Given the description of an element on the screen output the (x, y) to click on. 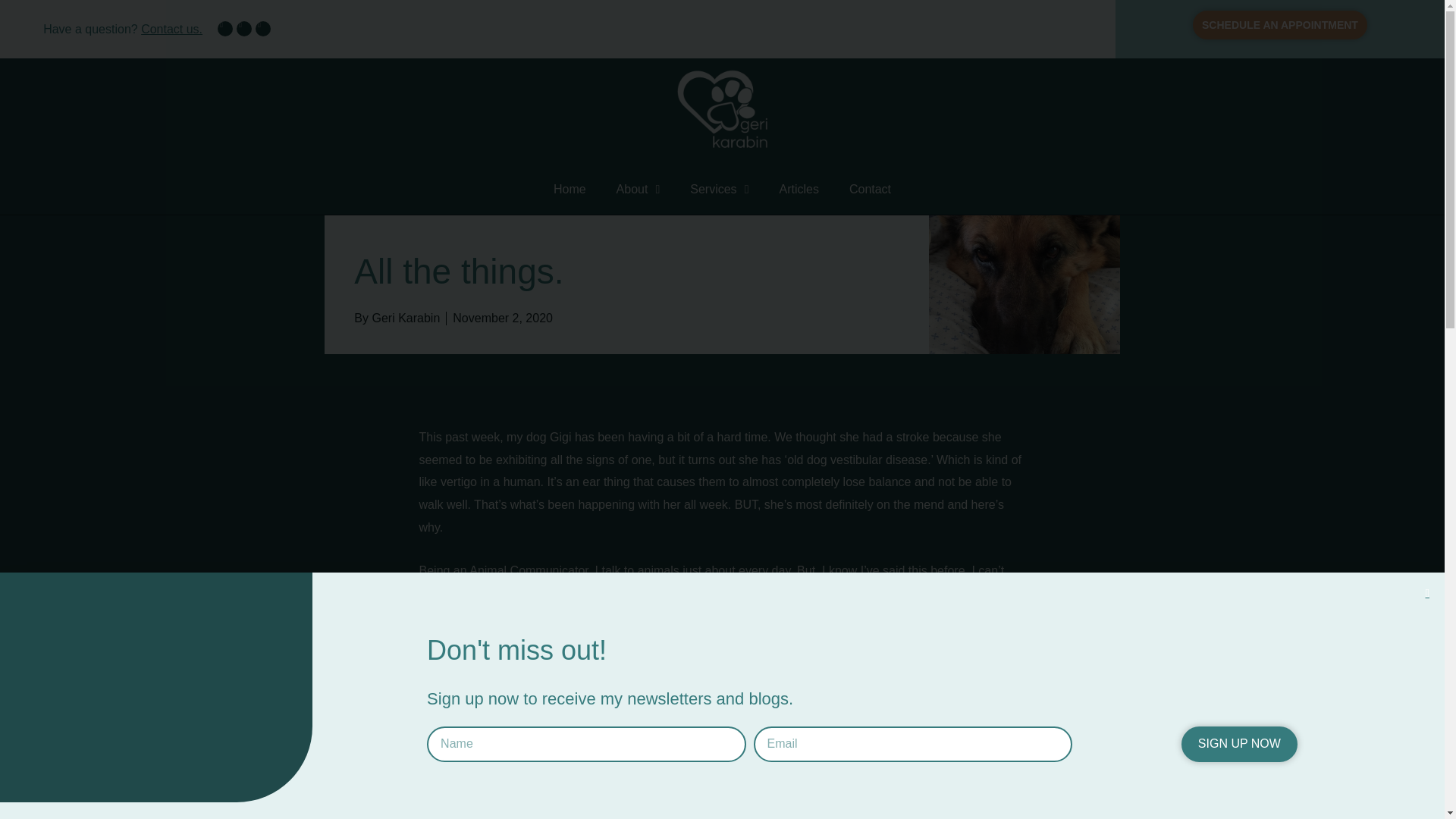
Home (569, 189)
Services (718, 189)
SCHEDULE AN APPOINTMENT (1279, 24)
Have a question? Contact us. (122, 29)
Contact (869, 189)
Articles (797, 189)
About (638, 189)
